Given the description of an element on the screen output the (x, y) to click on. 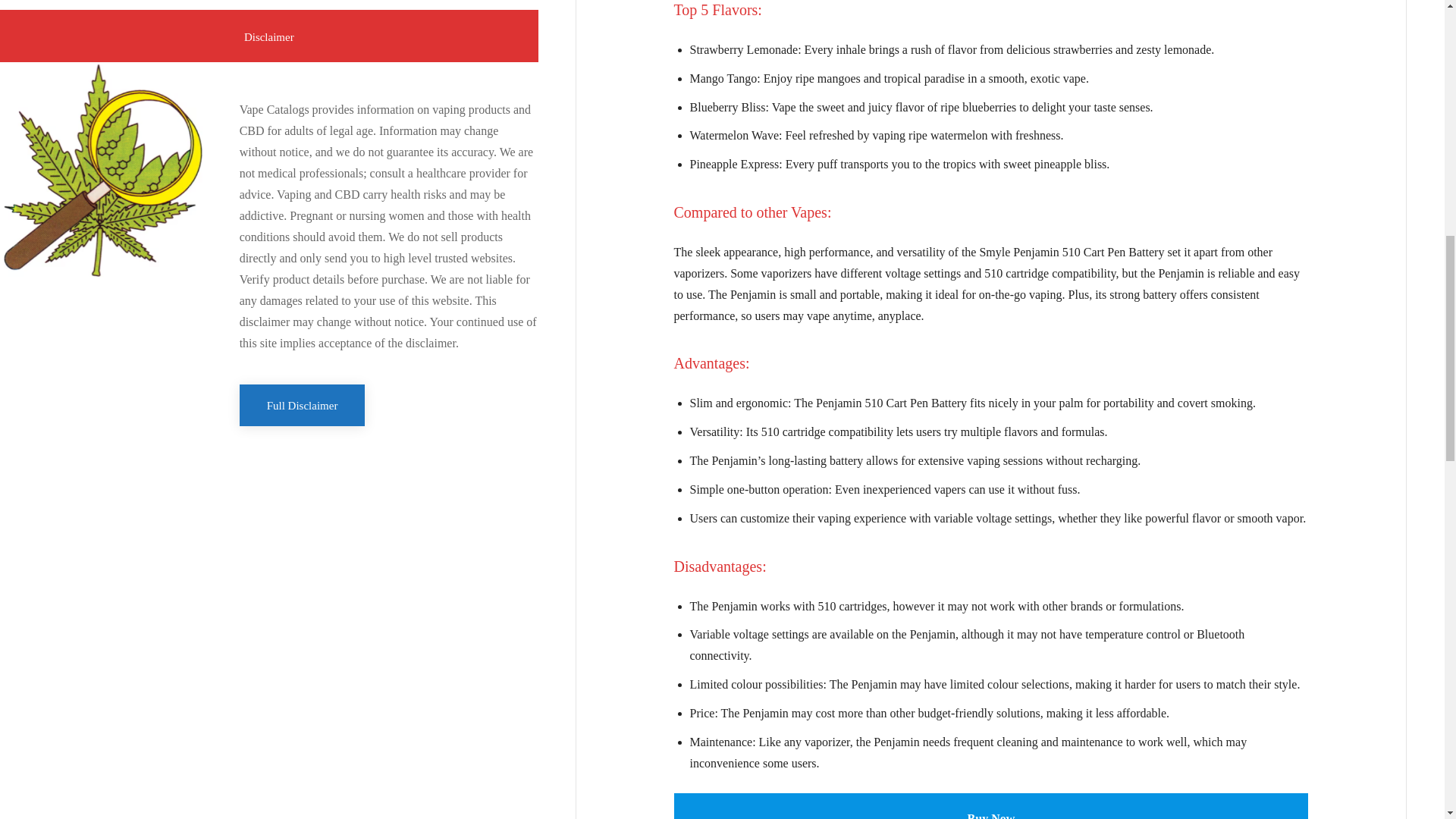
Full Disclaimer (302, 404)
Full Disclaimer (302, 404)
Disclaimer (269, 36)
Disclaimer (269, 36)
